Given the description of an element on the screen output the (x, y) to click on. 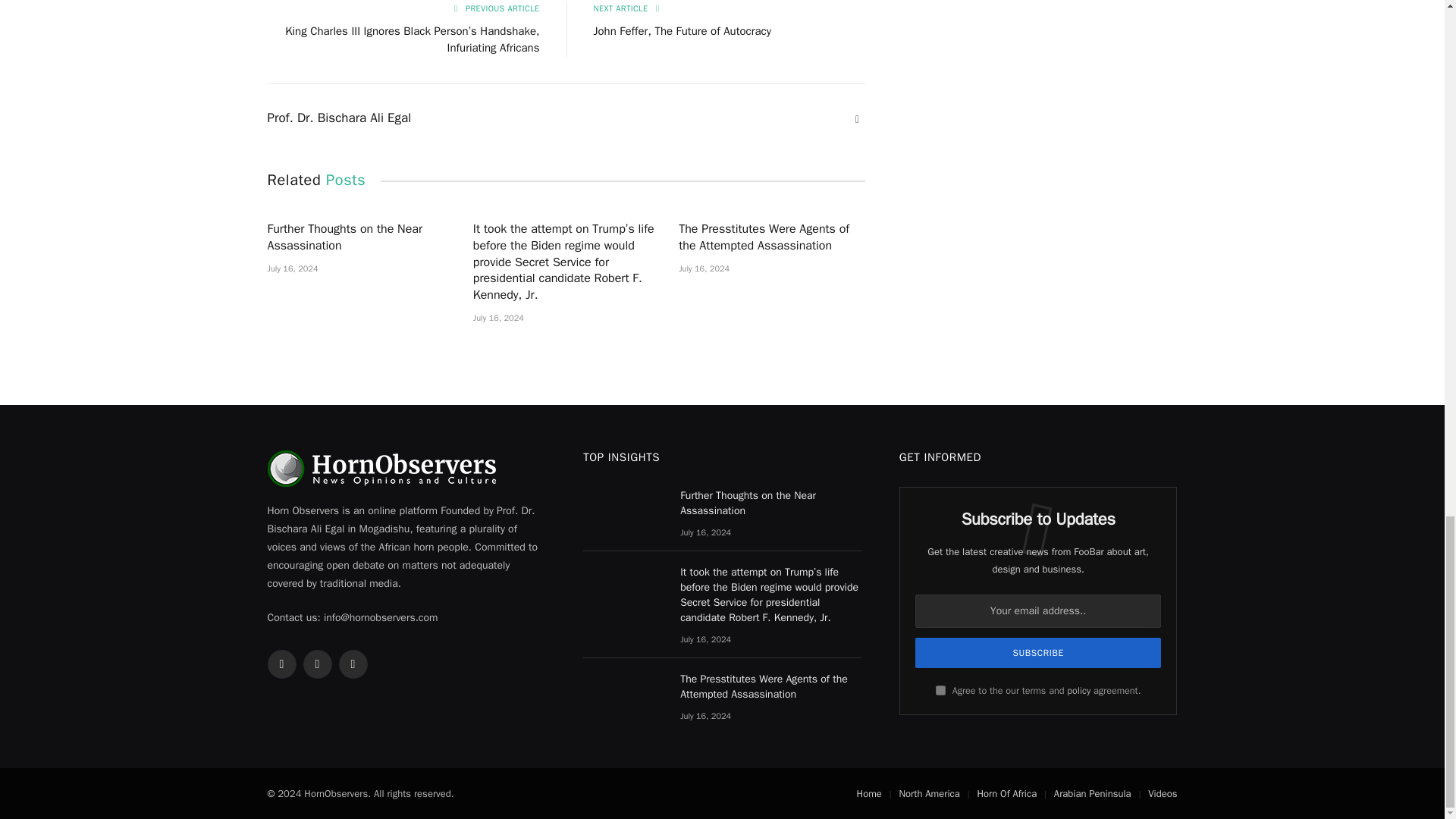
on (940, 690)
Subscribe (1038, 653)
